Given the description of an element on the screen output the (x, y) to click on. 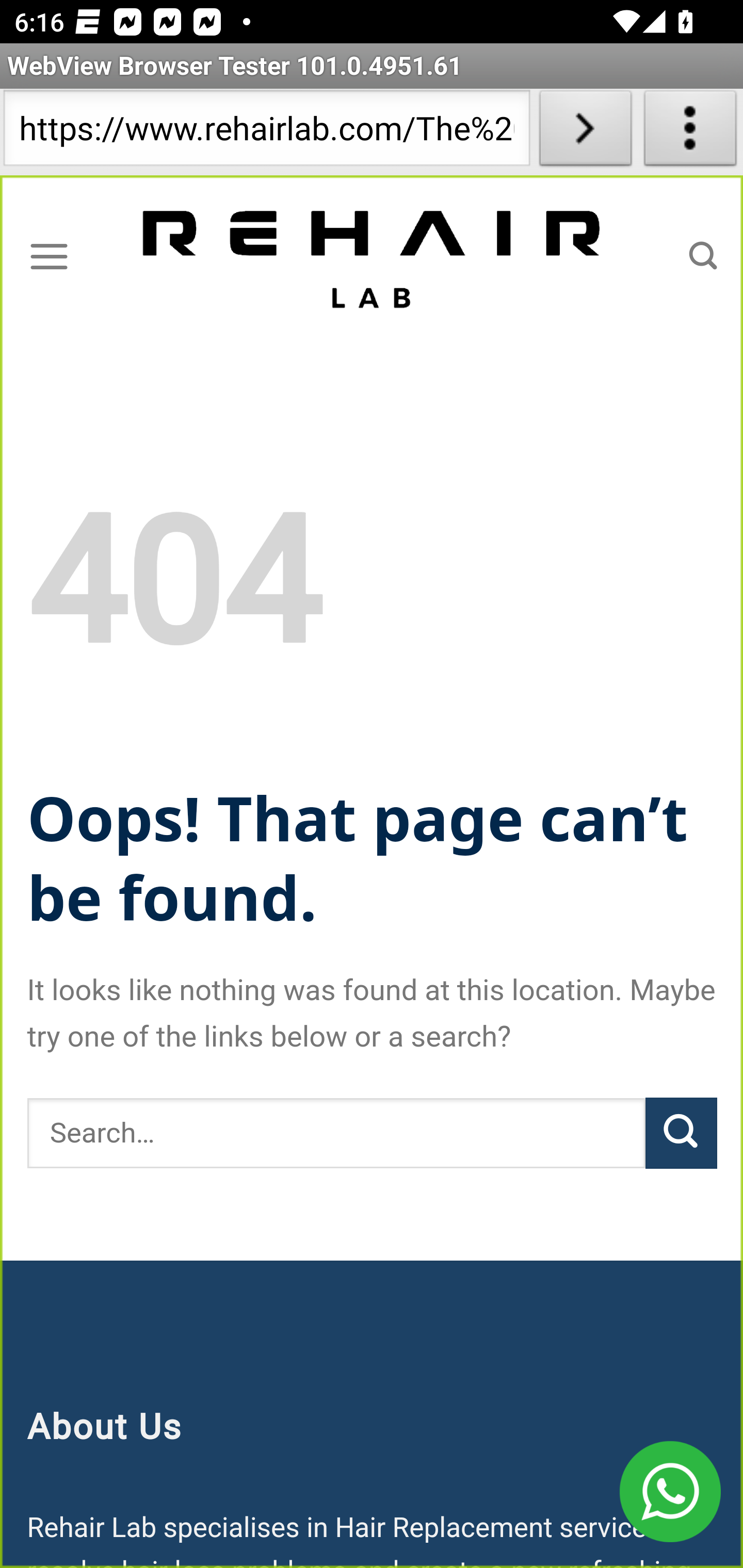
Load URL (585, 132)
About WebView (690, 132)
Rehair Lab (372, 256)
Menu  (48, 256)
Search  (703, 256)
Submit (681, 1132)
wa.logo_-1 (669, 1491)
